Given the description of an element on the screen output the (x, y) to click on. 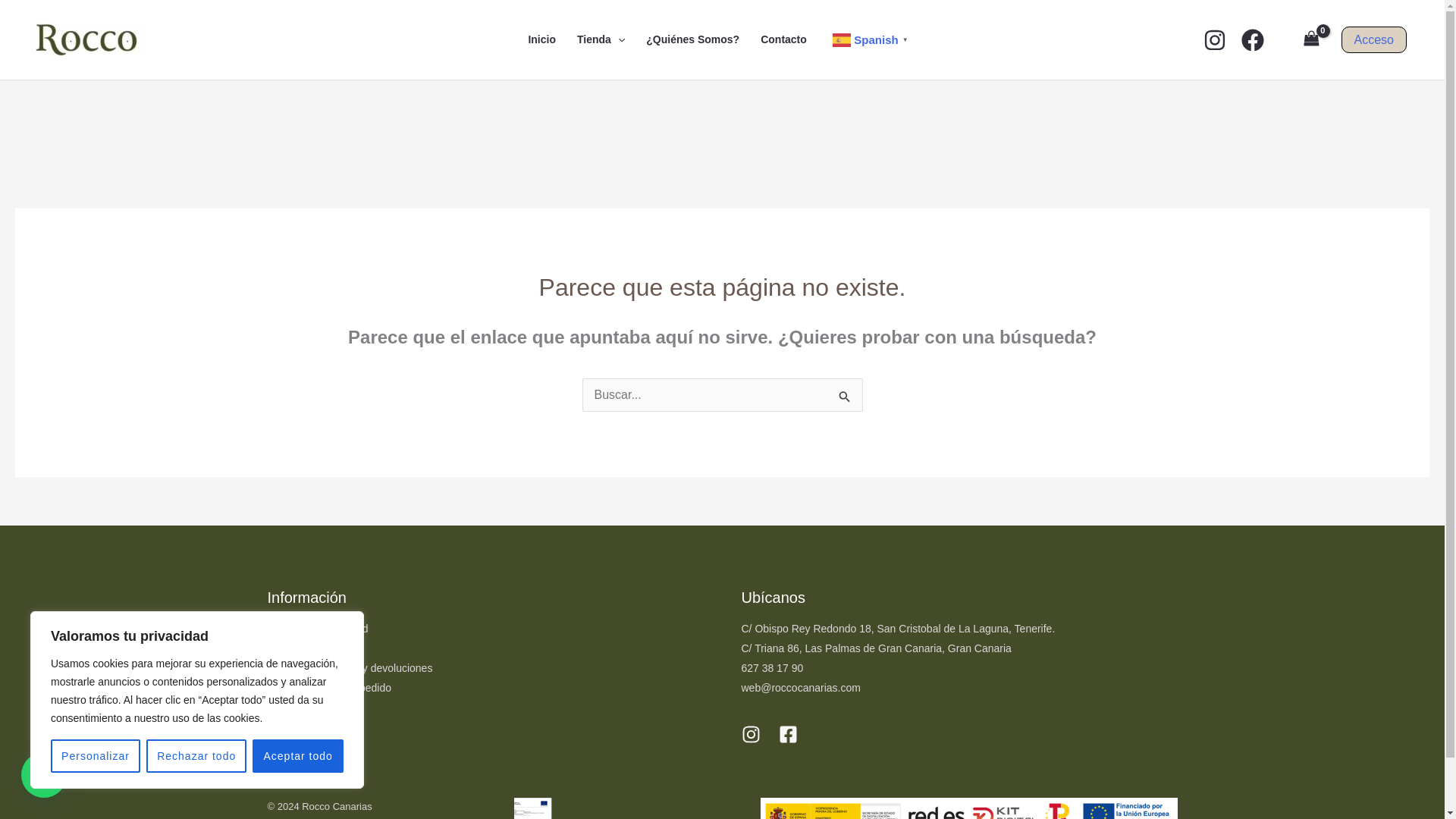
Aceptar todo (297, 756)
Buscar (844, 397)
Buscar (844, 397)
Personalizar (94, 756)
Rechazar todo (196, 756)
